Given the description of an element on the screen output the (x, y) to click on. 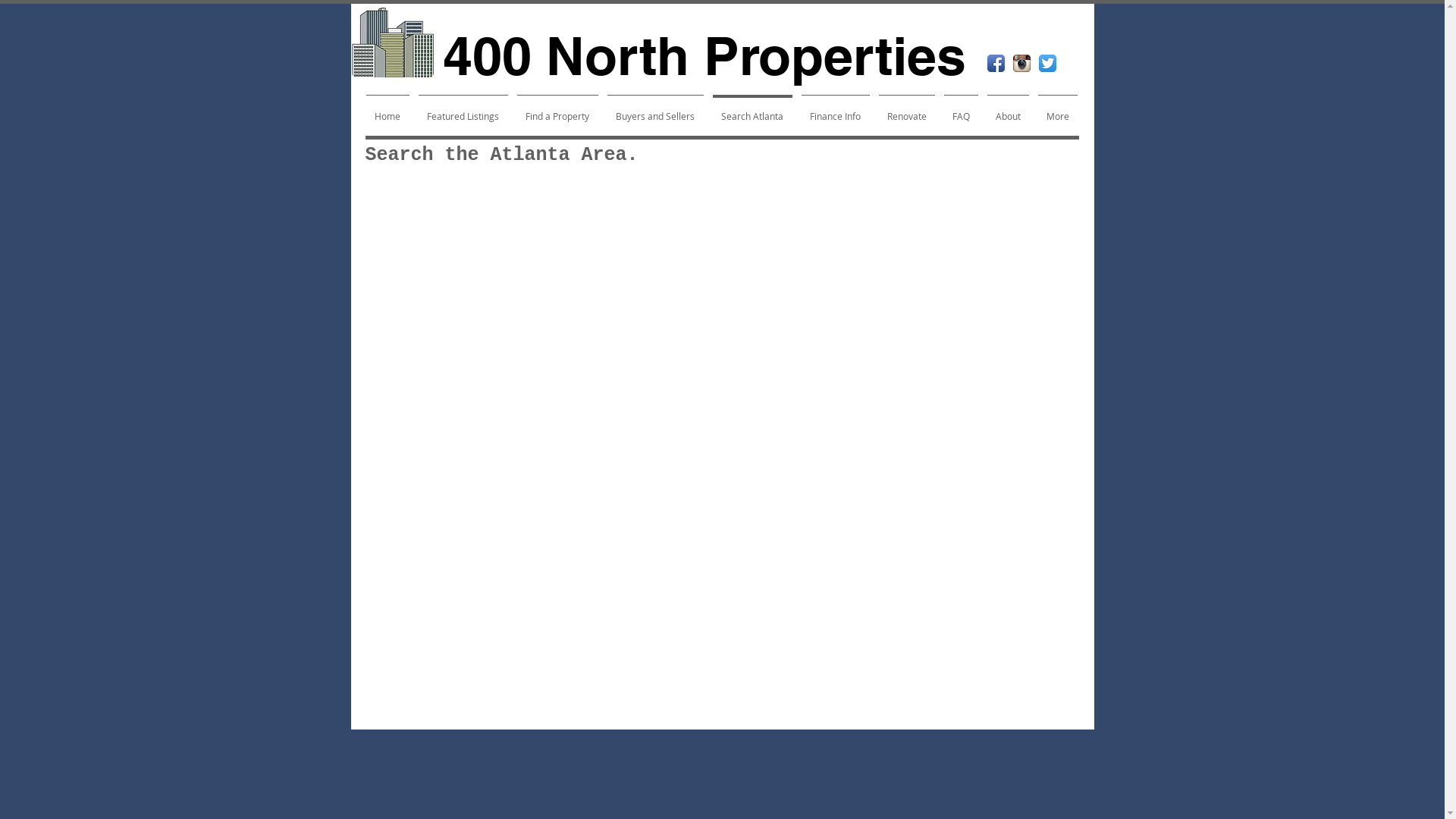
FAQ Element type: text (960, 109)
Renovate Element type: text (905, 109)
Buyers and Sellers Element type: text (654, 109)
Finance Info Element type: text (834, 109)
About Element type: text (1007, 109)
Find a Property Element type: text (557, 109)
Search Atlanta Element type: text (752, 109)
Home Element type: text (386, 109)
Featured Listings Element type: text (463, 109)
Embedded Content Element type: hover (721, 453)
